Given the description of an element on the screen output the (x, y) to click on. 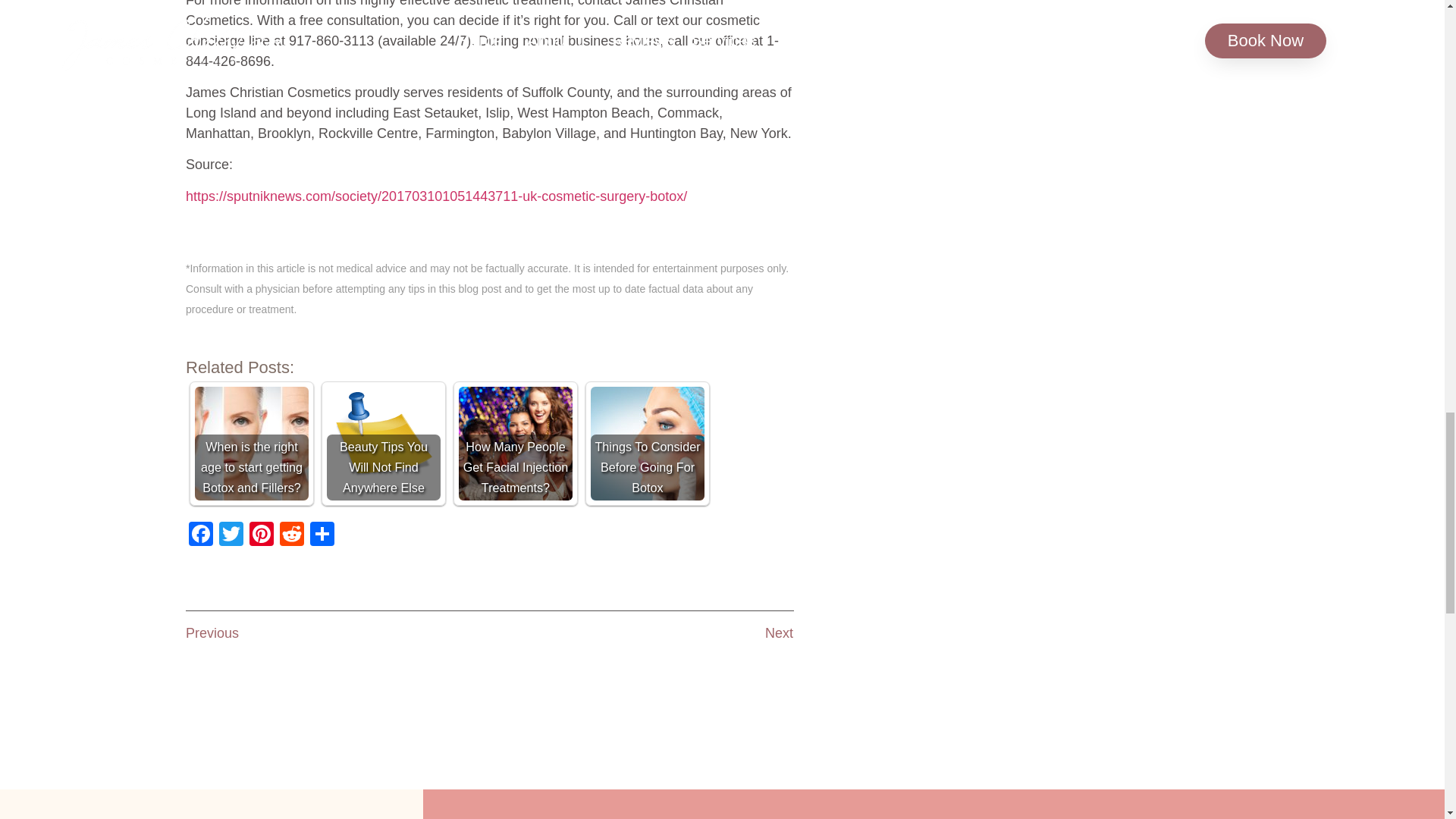
Facebook (200, 535)
When is the right age to start getting Botox and Fillers? (251, 443)
Beauty Tips You Will Not Find Anywhere Else (383, 443)
How Many People Get Facial Injection Treatments? (515, 443)
Things To Consider Before Going For Botox (647, 443)
Pinterest (261, 535)
Twitter (230, 535)
Reddit (291, 535)
